Given the description of an element on the screen output the (x, y) to click on. 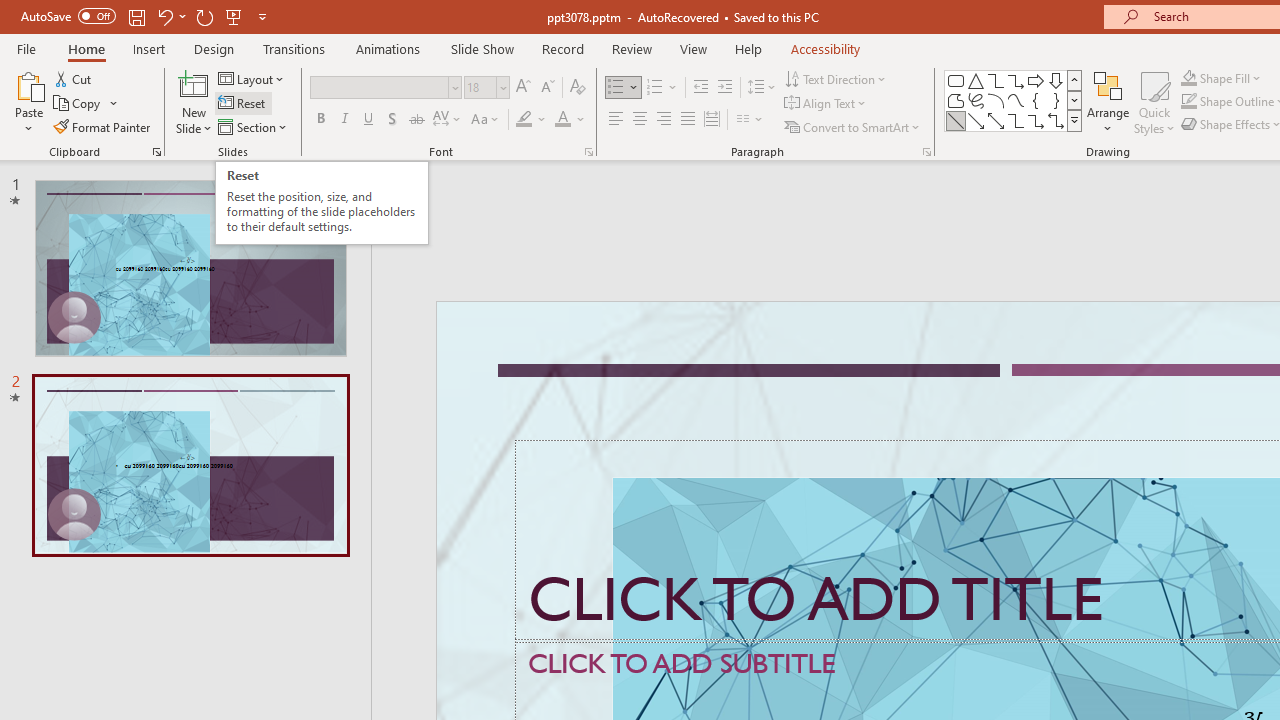
Arrow: Down (1055, 80)
Decrease Indent (700, 87)
Paragraph... (926, 151)
Isosceles Triangle (975, 80)
Arrange (1108, 102)
Font Size (480, 87)
Format Painter (103, 126)
Decrease Font Size (547, 87)
Change Case (486, 119)
Cut (73, 78)
Shape Outline Green, Accent 1 (1188, 101)
Convert to SmartArt (853, 126)
